Given the description of an element on the screen output the (x, y) to click on. 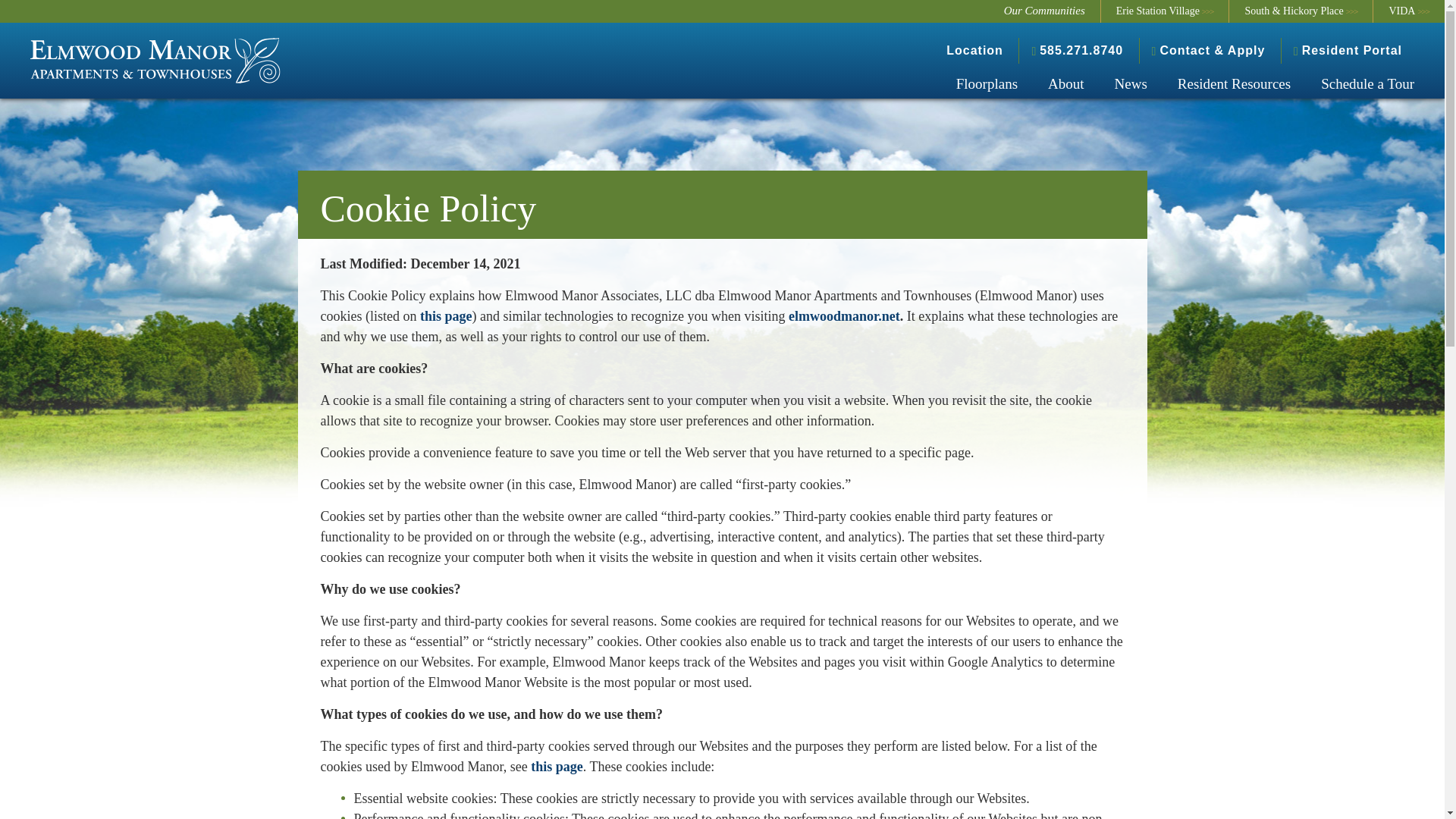
585.271.8740 (1077, 50)
About (1065, 83)
Schedule a Tour (1367, 83)
Location (974, 50)
Erie Station Village (1164, 11)
this page (445, 315)
Floorplans (986, 83)
this page (557, 766)
Resident Resources (1233, 83)
elmwoodmanor.net (844, 315)
News (1130, 83)
Resident Portal (1347, 50)
